Given the description of an element on the screen output the (x, y) to click on. 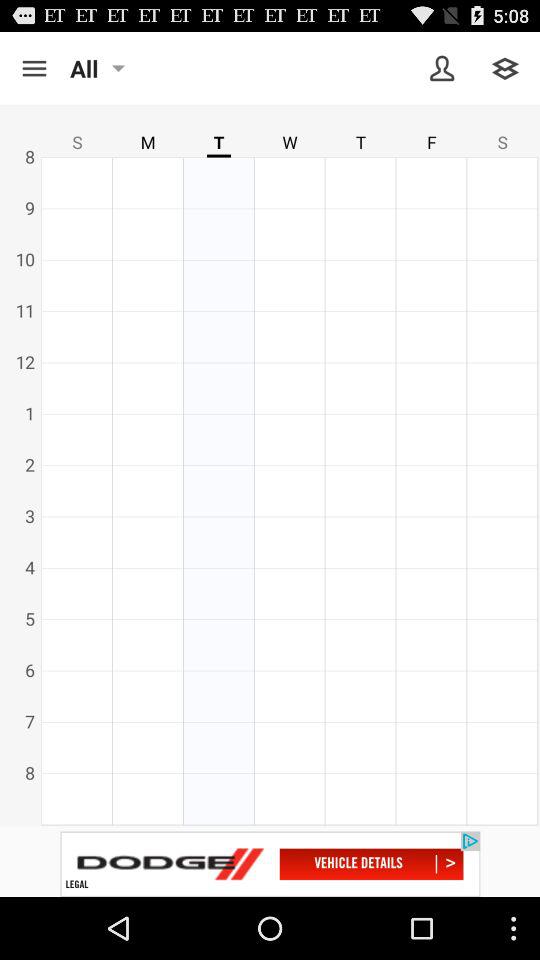
open the menu (34, 68)
